Given the description of an element on the screen output the (x, y) to click on. 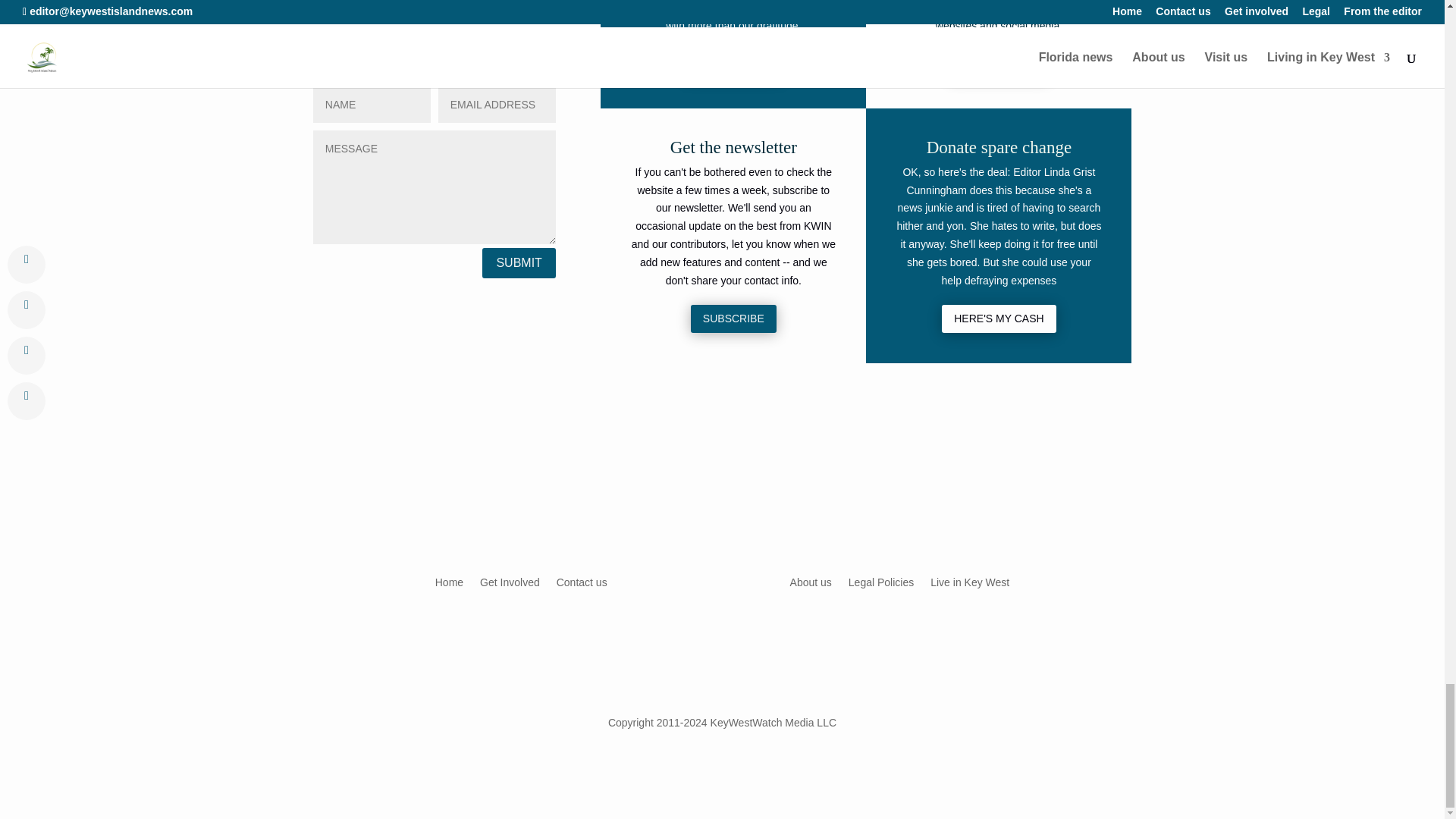
cropped-2019-Logo-DRK-BLU-Text-Transparent-1-300x300-1 (433, 9)
